Given the description of an element on the screen output the (x, y) to click on. 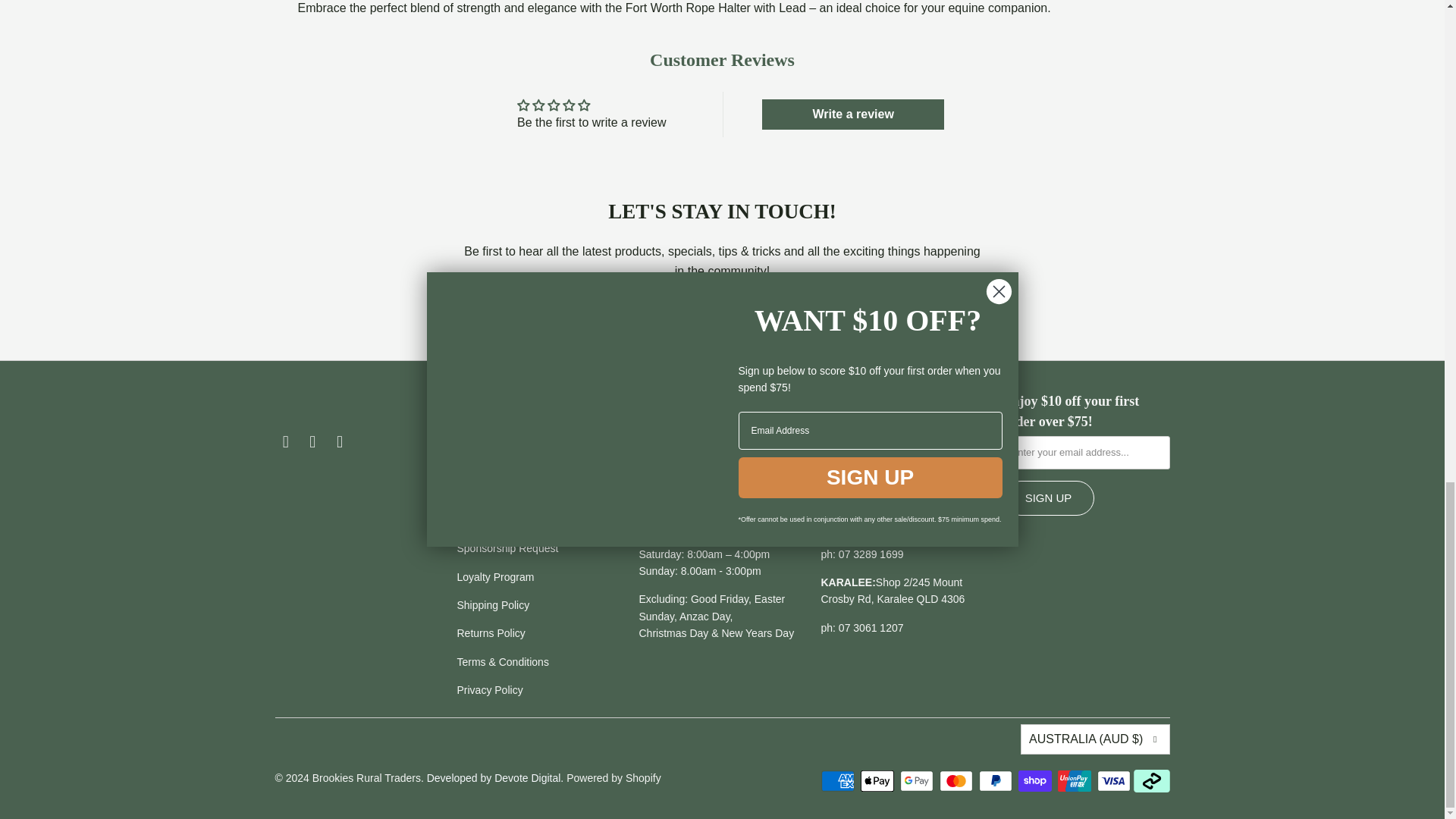
Visa (1114, 780)
American Express (839, 780)
PayPal (996, 780)
Union Pay (1076, 780)
Mastercard (957, 780)
Shop Pay (1035, 780)
Sign Up (842, 308)
Google Pay (917, 780)
Brookies Rural Traders on Instagram (312, 442)
Apple Pay (878, 780)
Sign Up (1048, 497)
Brookies Rural Traders on YouTube (340, 442)
Brookies Rural Traders on Facebook (286, 442)
